Given the description of an element on the screen output the (x, y) to click on. 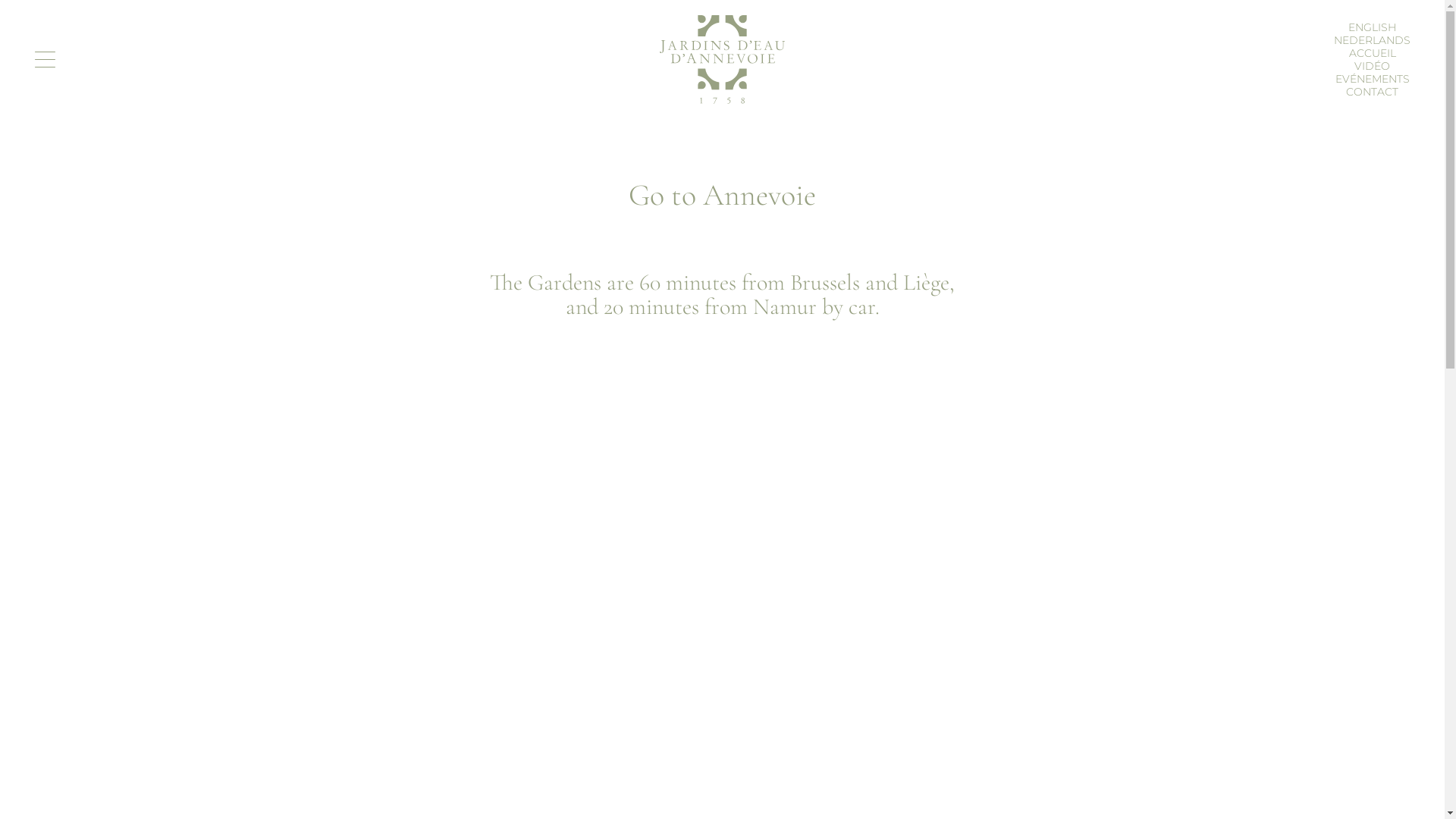
CONTACT Element type: text (1372, 91)
NEDERLANDS Element type: text (1371, 40)
ENGLISH Element type: text (1372, 26)
Toggle navigation Element type: text (45, 59)
ACCUEIL Element type: text (1371, 52)
